Given the description of an element on the screen output the (x, y) to click on. 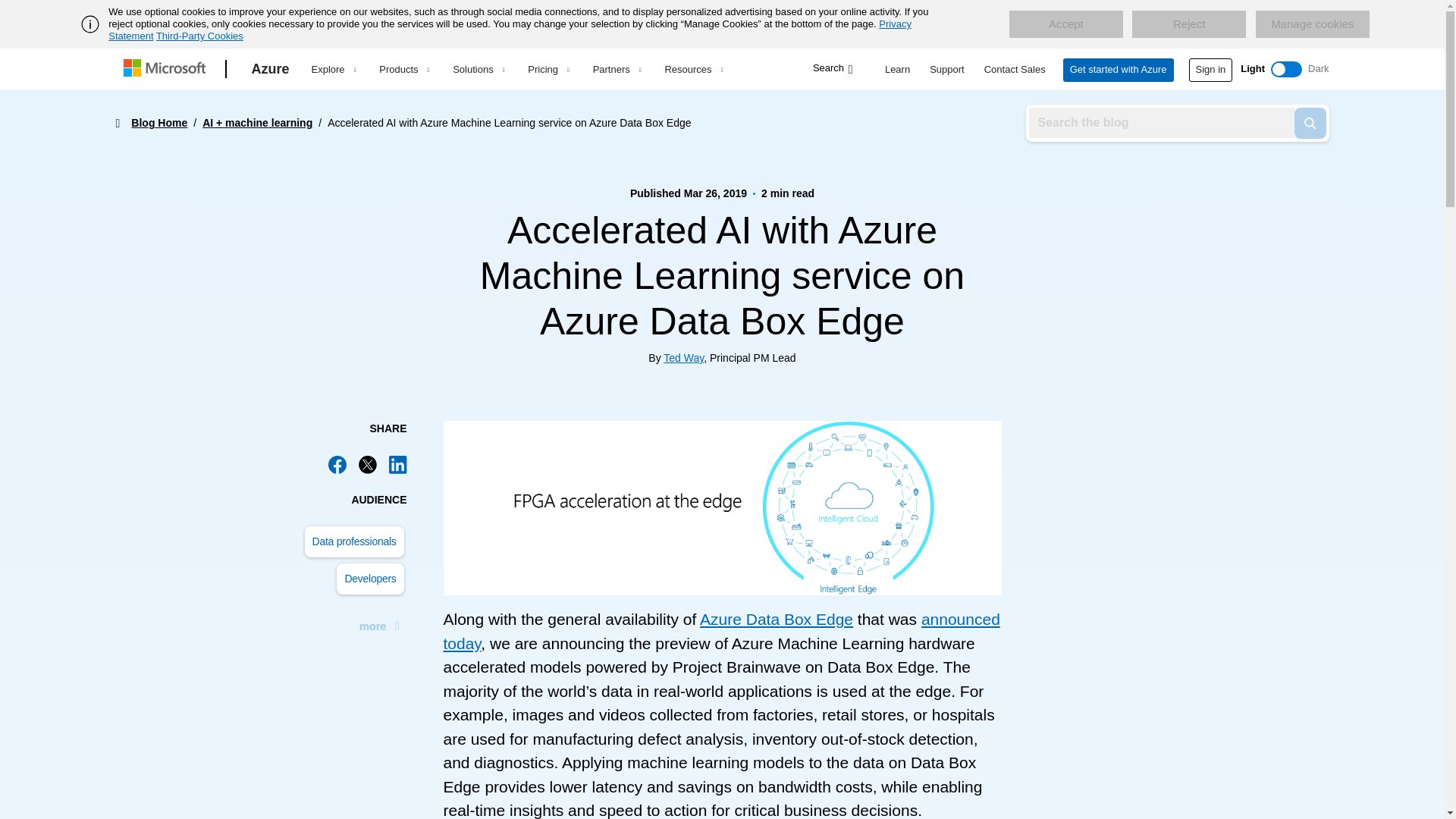
Explore (333, 69)
FPGA acceleration at the edge (721, 507)
Privacy Statement (509, 29)
Third-Party Cookies (199, 35)
Products (403, 69)
Accept (1065, 23)
Manage cookies (1312, 23)
Azure (270, 69)
Reject (1189, 23)
Microsoft (167, 69)
